Given the description of an element on the screen output the (x, y) to click on. 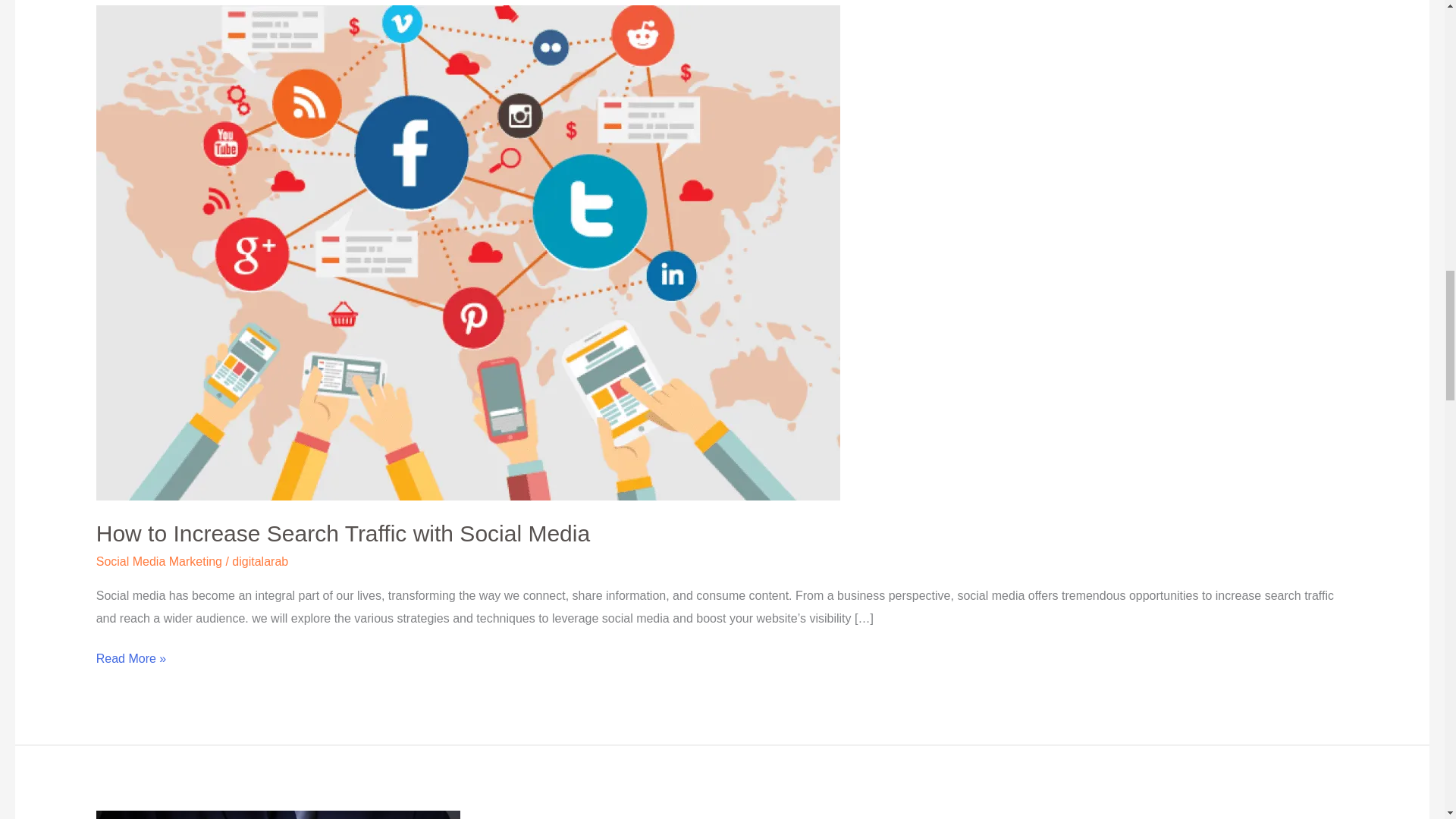
View all posts by digitalarab (259, 561)
digitalarab (259, 561)
How to Increase Search Traffic with Social Media (342, 533)
Social Media Marketing (159, 561)
